Given the description of an element on the screen output the (x, y) to click on. 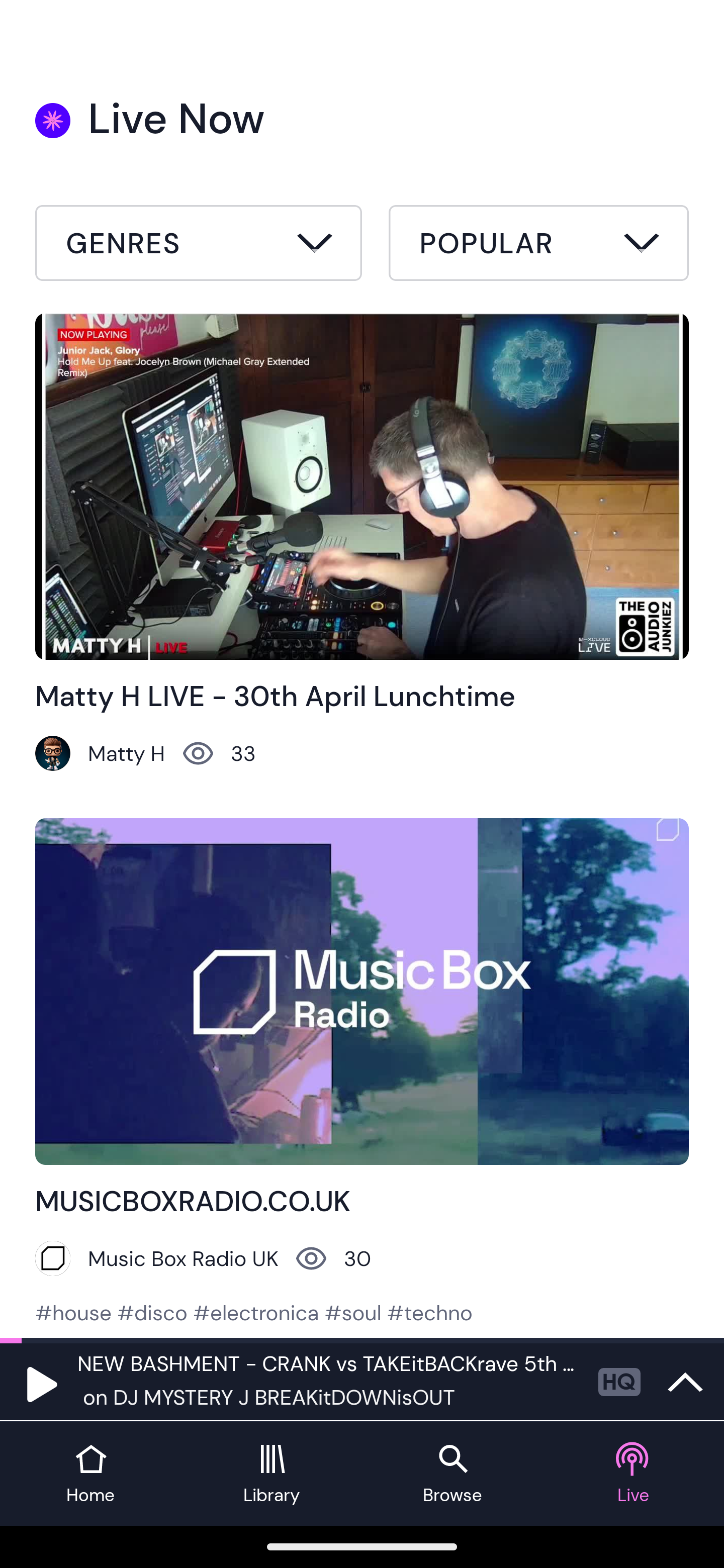
Filter by button All (198, 245)
Sort by button Popular (538, 245)
Home tab Home (90, 1473)
Library tab Library (271, 1473)
Browse tab Browse (452, 1473)
Live tab Live (633, 1473)
